Given the description of an element on the screen output the (x, y) to click on. 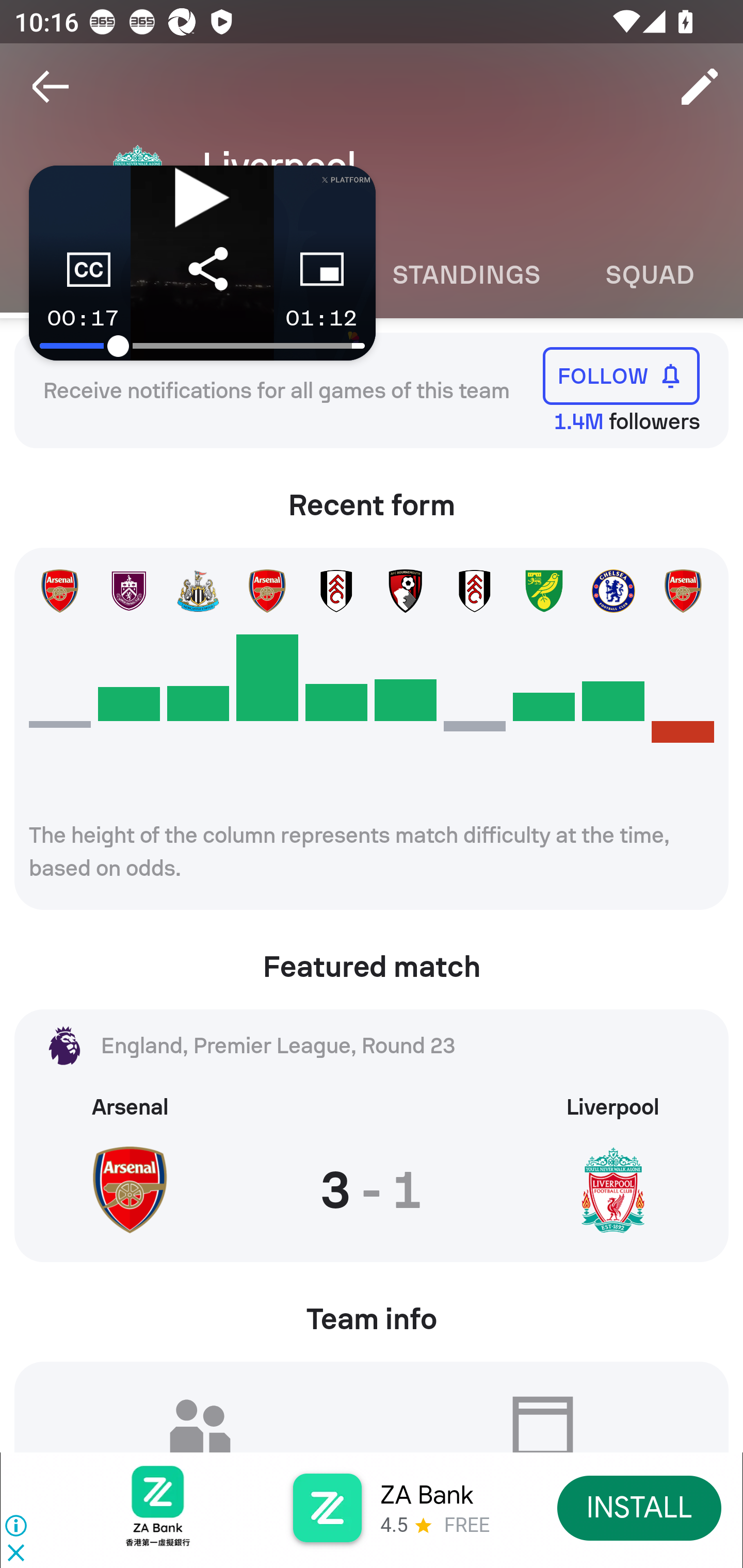
Navigate up (50, 86)
Edit (699, 86)
Standings STANDINGS (465, 275)
Squad SQUAD (650, 275)
FOLLOW (621, 375)
INSTALL (639, 1507)
ZA Bank (426, 1494)
